Given the description of an element on the screen output the (x, y) to click on. 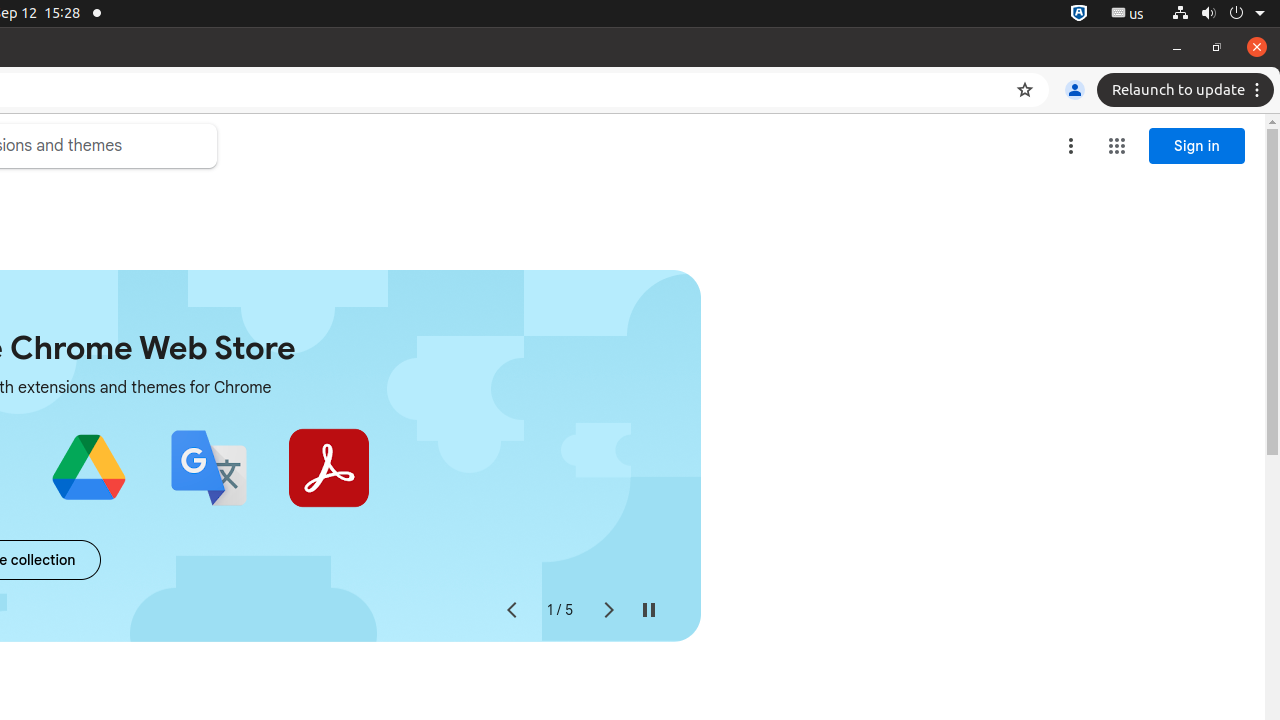
Google Translate Element type: link (208, 468)
Adobe Acrobat: PDF edit, convert, sign tools Element type: link (328, 468)
Google apps Element type: push-button (1117, 145)
:1.72/StatusNotifierItem Element type: menu (1079, 13)
Sign in Element type: link (1197, 146)
